Given the description of an element on the screen output the (x, y) to click on. 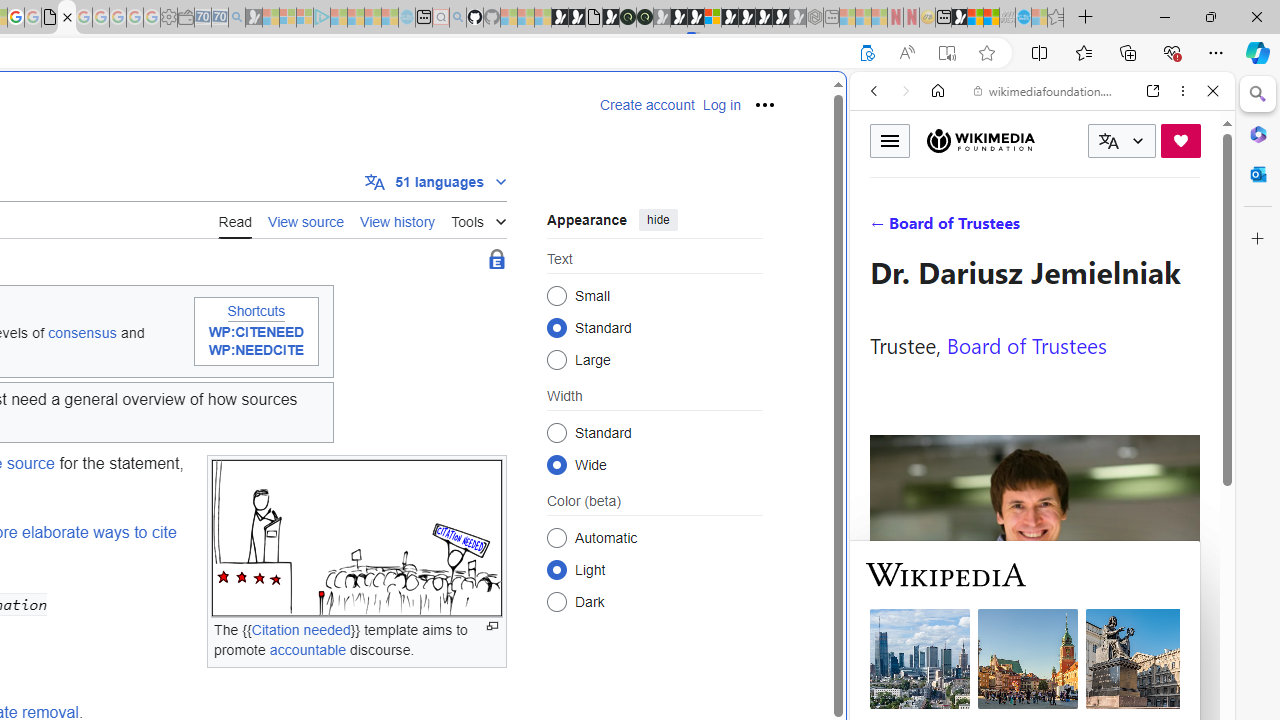
Citation needed (300, 628)
Wiktionary (1034, 669)
Tools (478, 218)
Extended-protected page (496, 259)
wikimediafoundation.org (1045, 90)
